Given the description of an element on the screen output the (x, y) to click on. 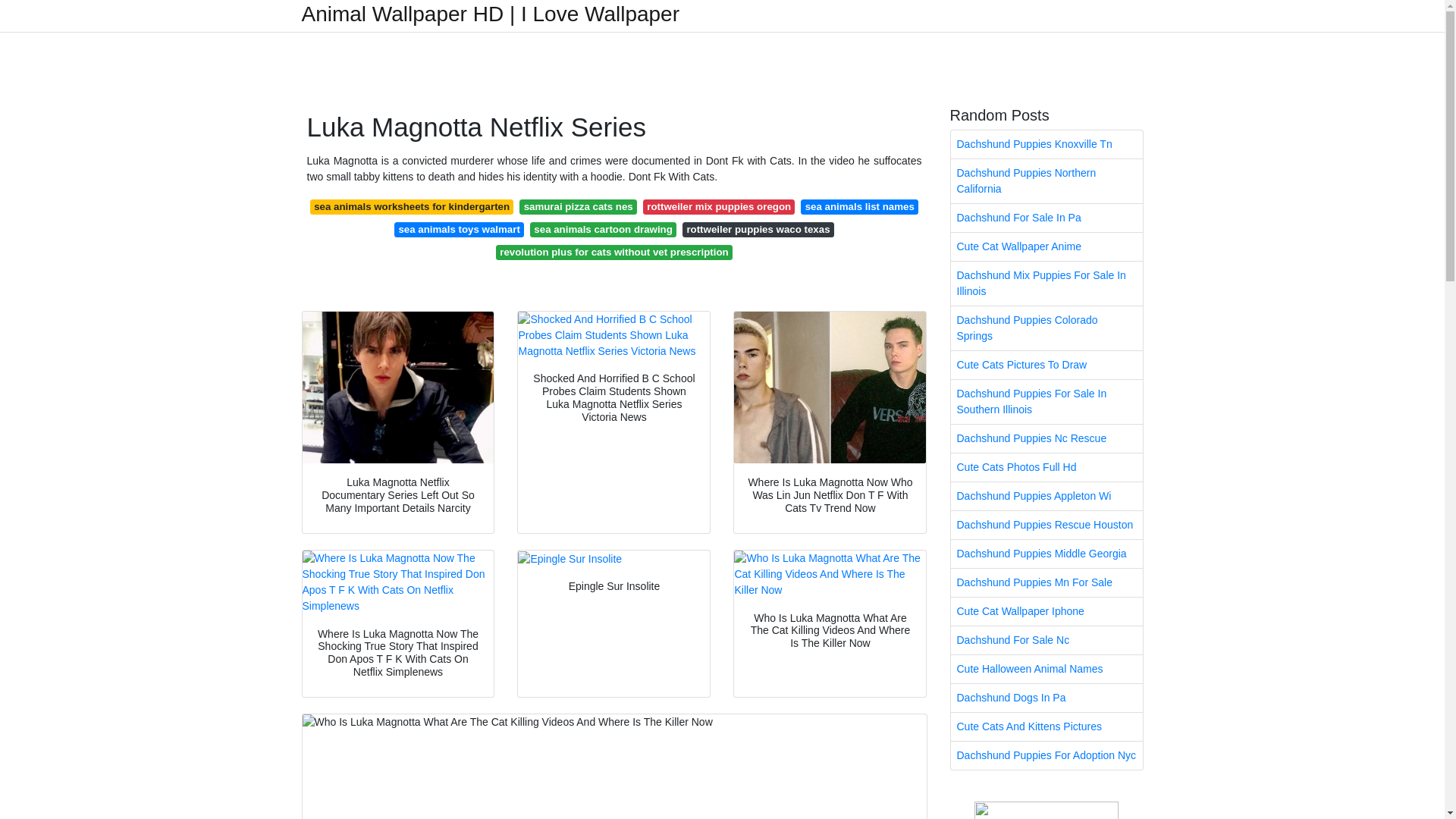
Dachshund Puppies Northern California (1046, 180)
Dachshund Puppies Colorado Springs (1046, 328)
Cute Cats Pictures To Draw (1046, 365)
rottweiler puppies waco texas (758, 229)
sea animals worksheets for kindergarten (411, 206)
revolution plus for cats without vet prescription (614, 252)
sea animals toys walmart (459, 229)
Dachshund Mix Puppies For Sale In Illinois (1046, 283)
samurai pizza cats nes (578, 206)
Dachshund Puppies For Sale In Southern Illinois (1046, 402)
